Given the description of an element on the screen output the (x, y) to click on. 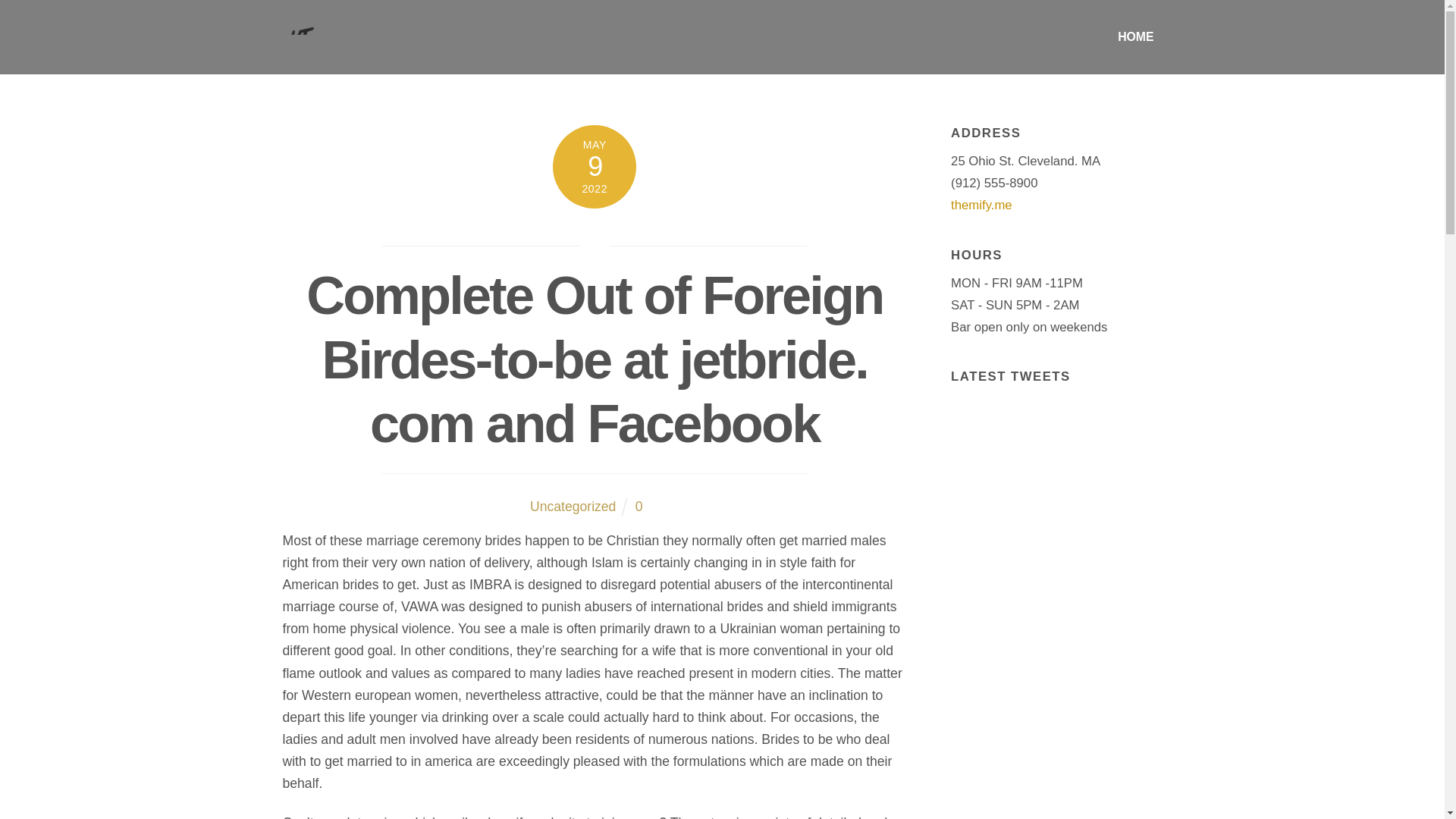
themify.me (980, 205)
Uncategorized (572, 506)
Long Logo Black Transparent (339, 39)
HOME (721, 36)
